Given the description of an element on the screen output the (x, y) to click on. 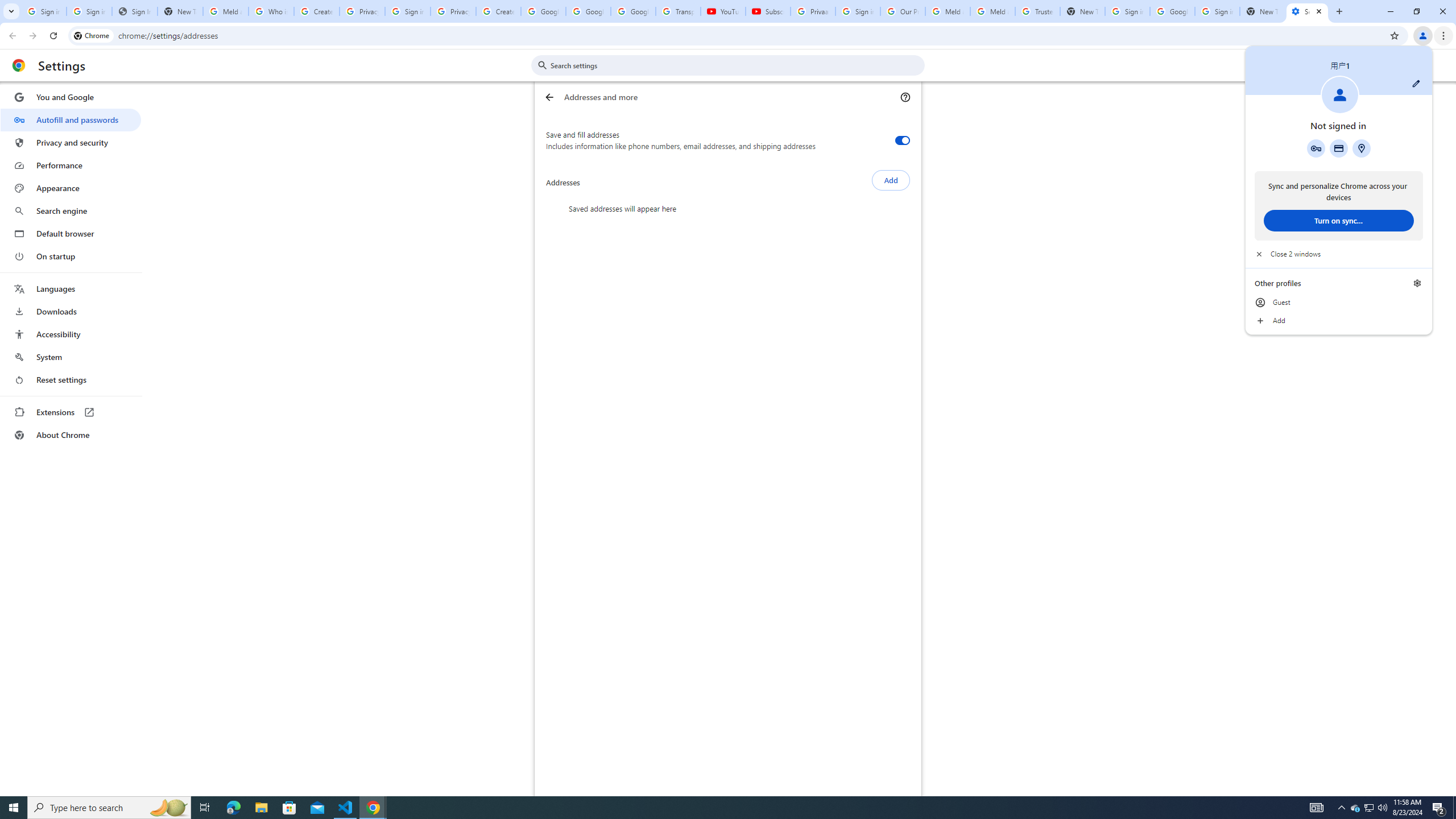
Privacy and security (70, 142)
New Tab (1262, 11)
Downloads (70, 311)
Action Center, 2 new notifications (1439, 807)
Settings - Addresses and more (1307, 11)
Microsoft Store (289, 807)
Q2790: 100% (1382, 807)
Type here to search (108, 807)
Create your Google Account (316, 11)
